Given the description of an element on the screen output the (x, y) to click on. 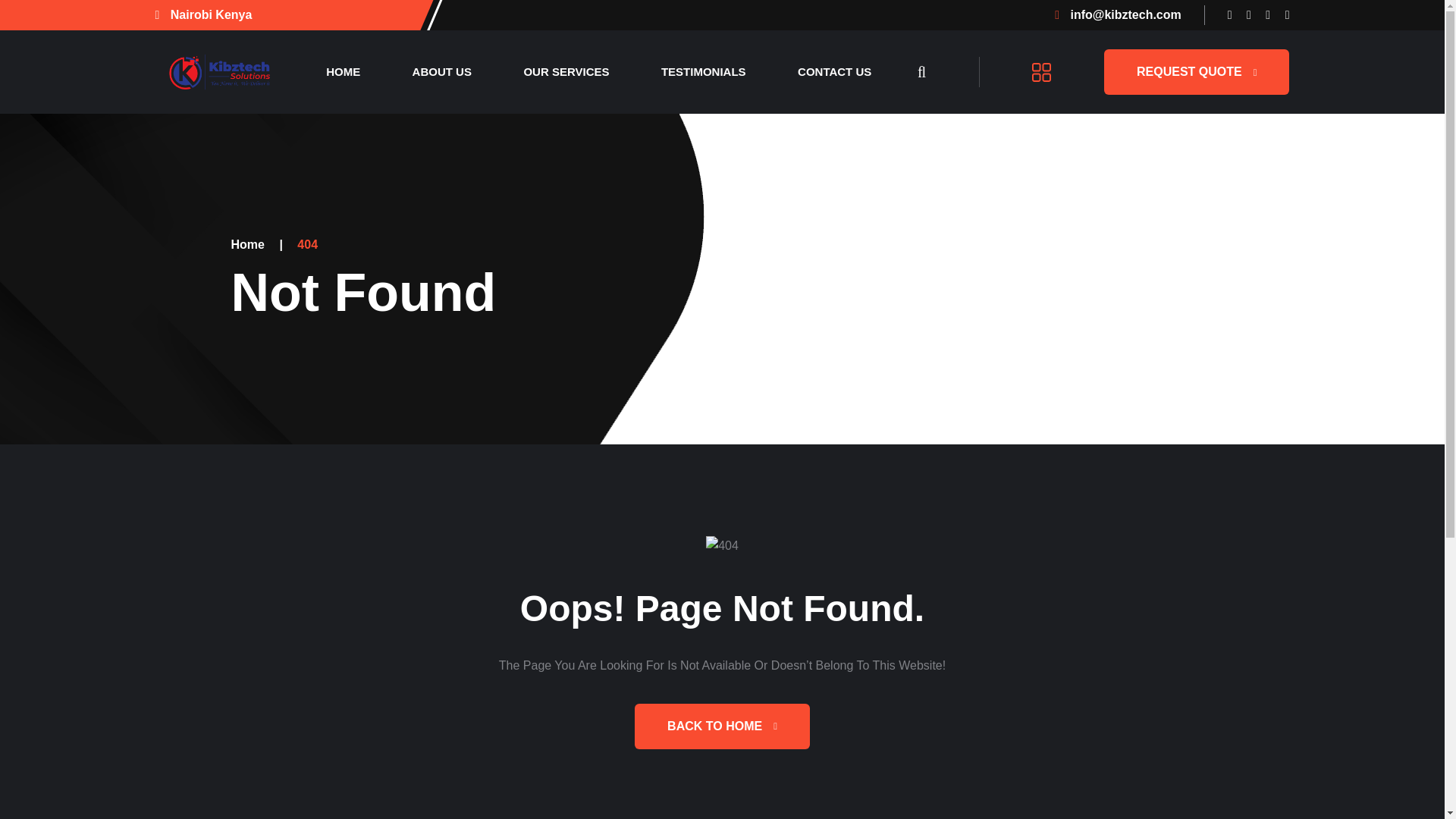
REQUEST QUOTE (1195, 72)
ABOUT US (442, 71)
TESTIMONIALS (703, 71)
HOME (342, 71)
Nairobi Kenya (202, 14)
OUR SERVICES (566, 71)
CONTACT US (834, 71)
BACK TO HOME (721, 726)
Home (246, 244)
